Given the description of an element on the screen output the (x, y) to click on. 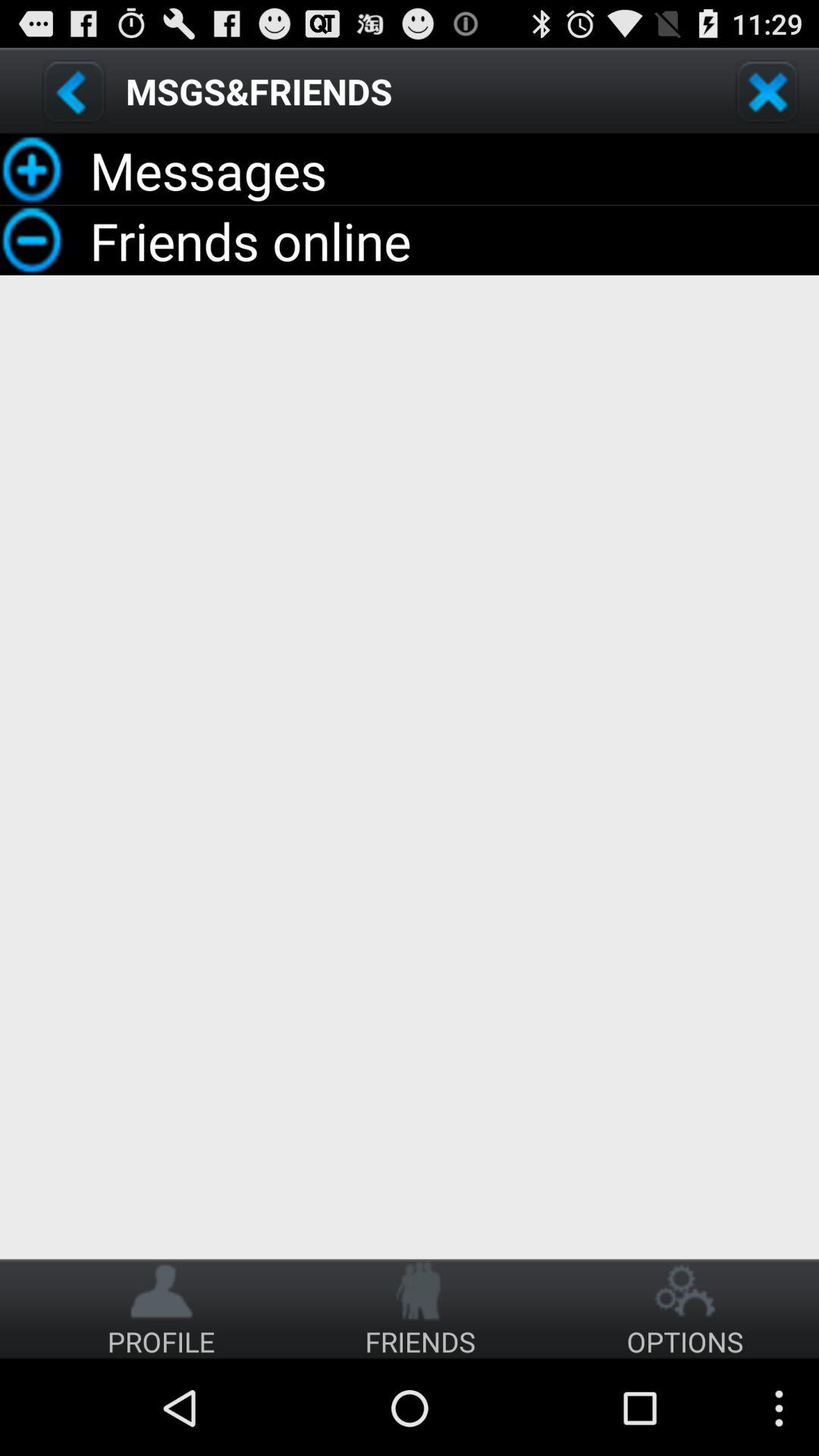
close button (767, 91)
